Given the description of an element on the screen output the (x, y) to click on. 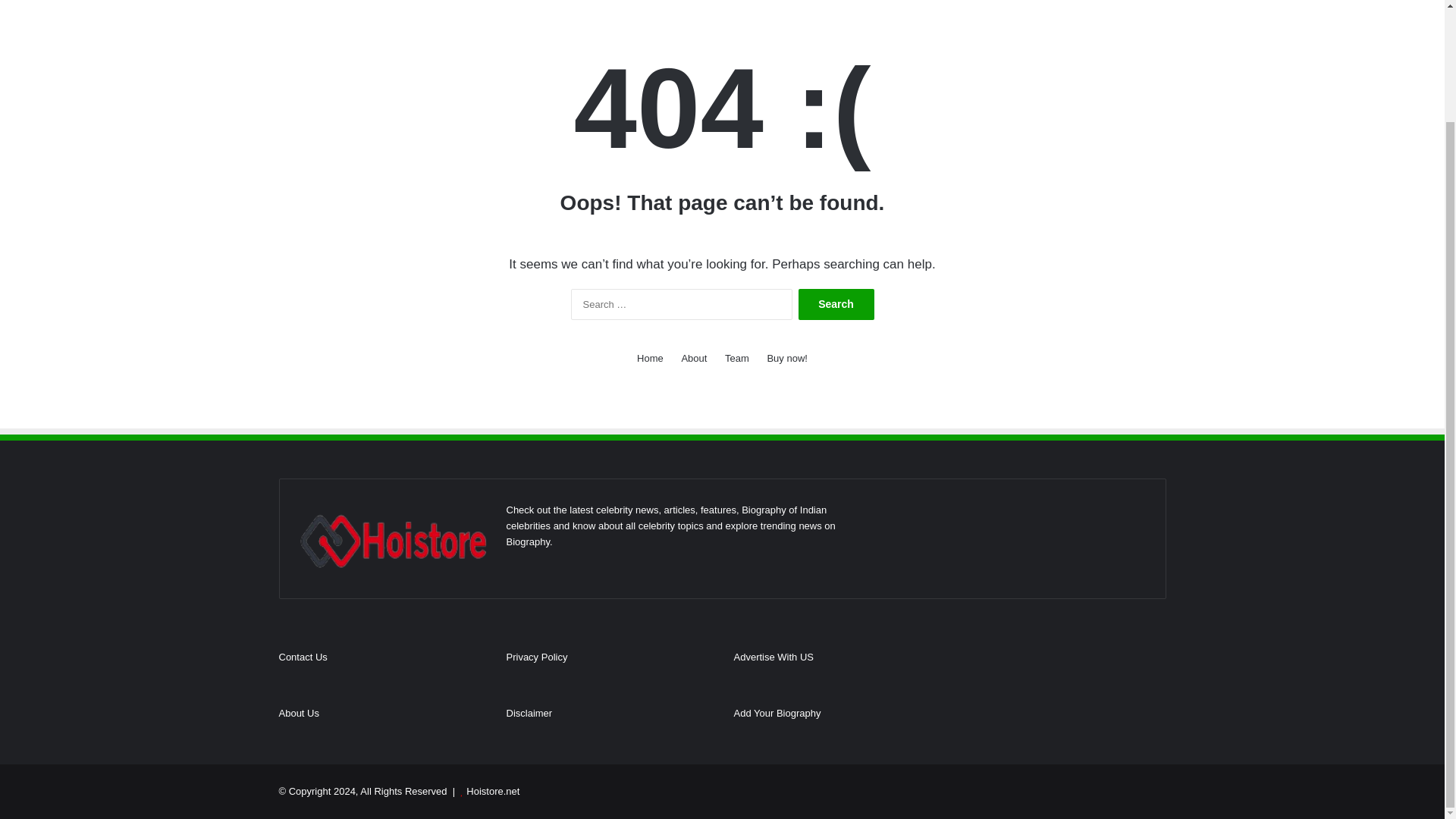
Home (650, 358)
Search (835, 304)
Buy now! (786, 358)
Search (835, 304)
Search (835, 304)
About (693, 358)
